Given the description of an element on the screen output the (x, y) to click on. 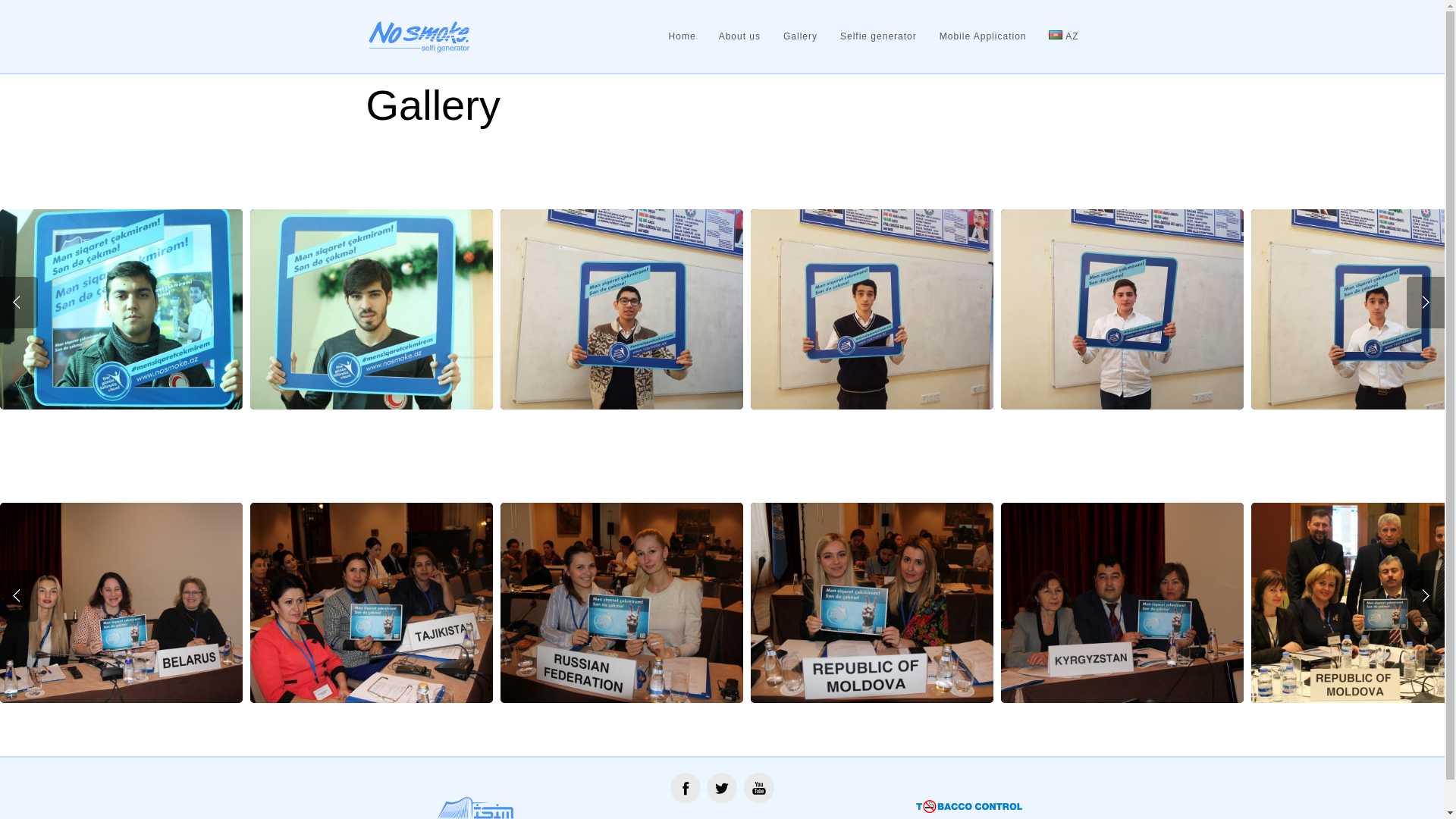
Gallery Element type: text (794, 36)
20161123_122052_big Element type: hover (1122, 309)
7F8A0163_big Element type: hover (121, 309)
IMG_0047_big Element type: hover (371, 602)
IMG_0039_big Element type: hover (1122, 602)
Prev Element type: text (18, 595)
Prev Element type: text (18, 302)
20161123_122108_big Element type: hover (871, 309)
Follow me Element type: hover (758, 787)
20161124_080344_big Element type: hover (621, 309)
7F8A0159_big Element type: hover (371, 309)
AZ Element type: text (1057, 36)
IMG_0027_big Element type: hover (121, 602)
Home Element type: text (676, 36)
About us Element type: text (733, 36)
Next Element type: text (1425, 302)
IMG_0041_big Element type: hover (621, 602)
Follow me Element type: hover (685, 787)
IMG_0046_big Element type: hover (871, 602)
Follow me Element type: hover (721, 787)
Selfie generator Element type: text (872, 36)
Next Element type: text (1425, 595)
Mobile Application Element type: text (977, 36)
